Given the description of an element on the screen output the (x, y) to click on. 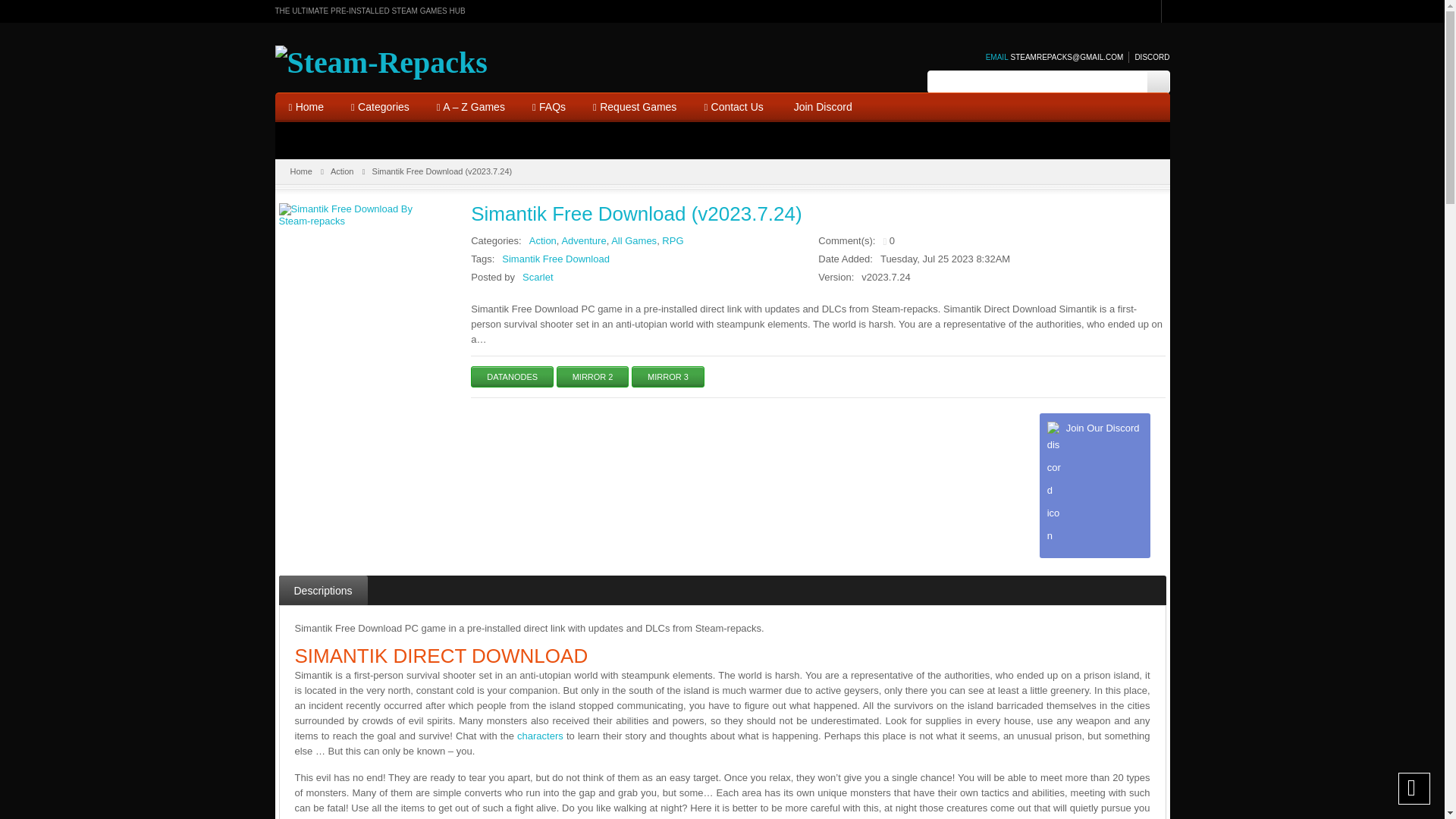
Steam-Repacks (380, 62)
Categories (380, 107)
Home (305, 107)
Search (1158, 81)
DISCORD (1148, 57)
Posts by Scarlet (537, 276)
